Given the description of an element on the screen output the (x, y) to click on. 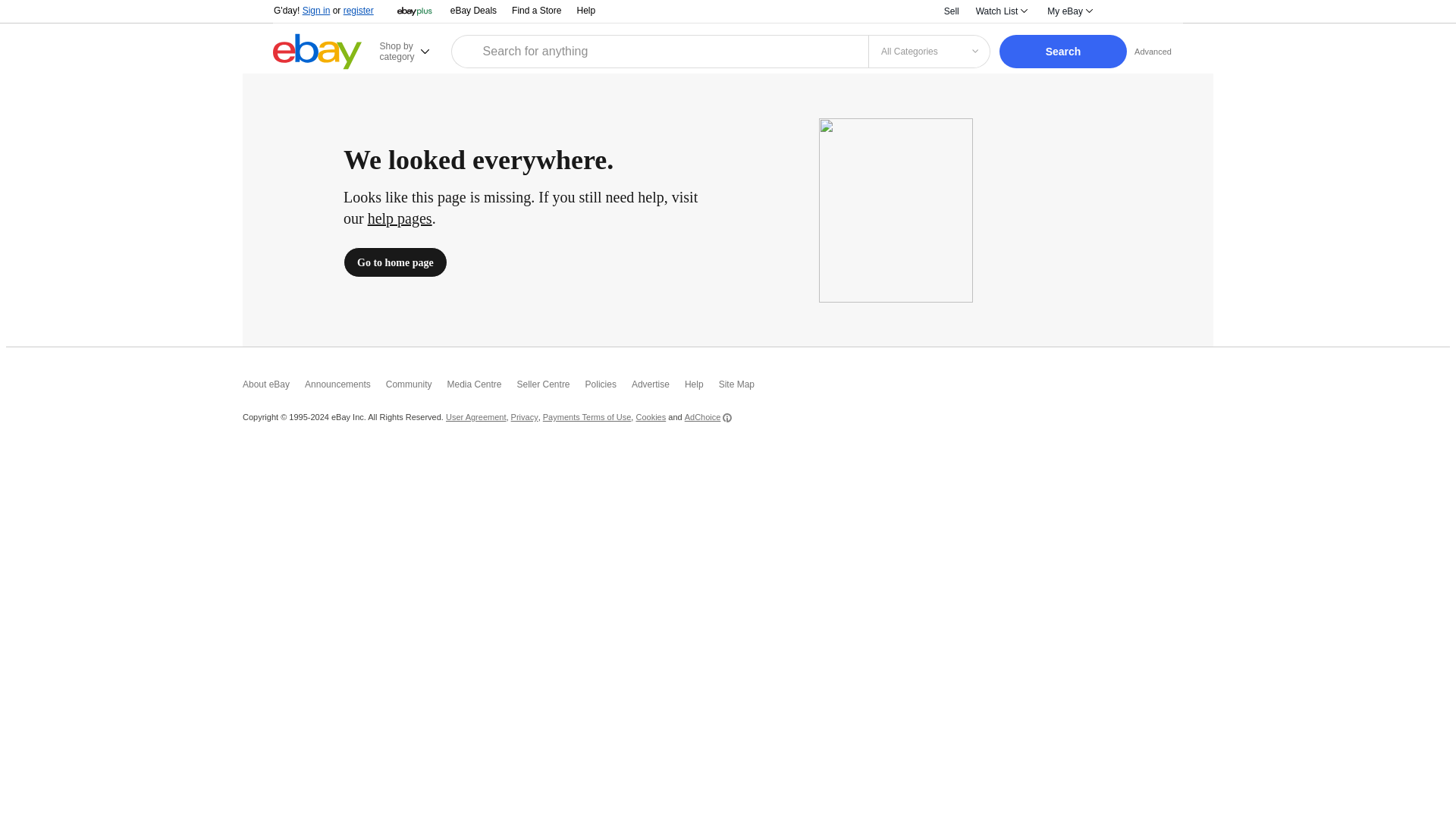
Sell (951, 10)
Watch List (1001, 11)
Media Centre (481, 388)
Notifications (1122, 11)
Advanced search (1152, 51)
About eBay (273, 388)
Search (1062, 51)
Go to home page (394, 262)
Seller Centre (550, 388)
My eBay (1069, 11)
help pages (400, 217)
Shop by category (413, 51)
Sign in (316, 9)
Watch List (1001, 11)
Search (1062, 51)
